Given the description of an element on the screen output the (x, y) to click on. 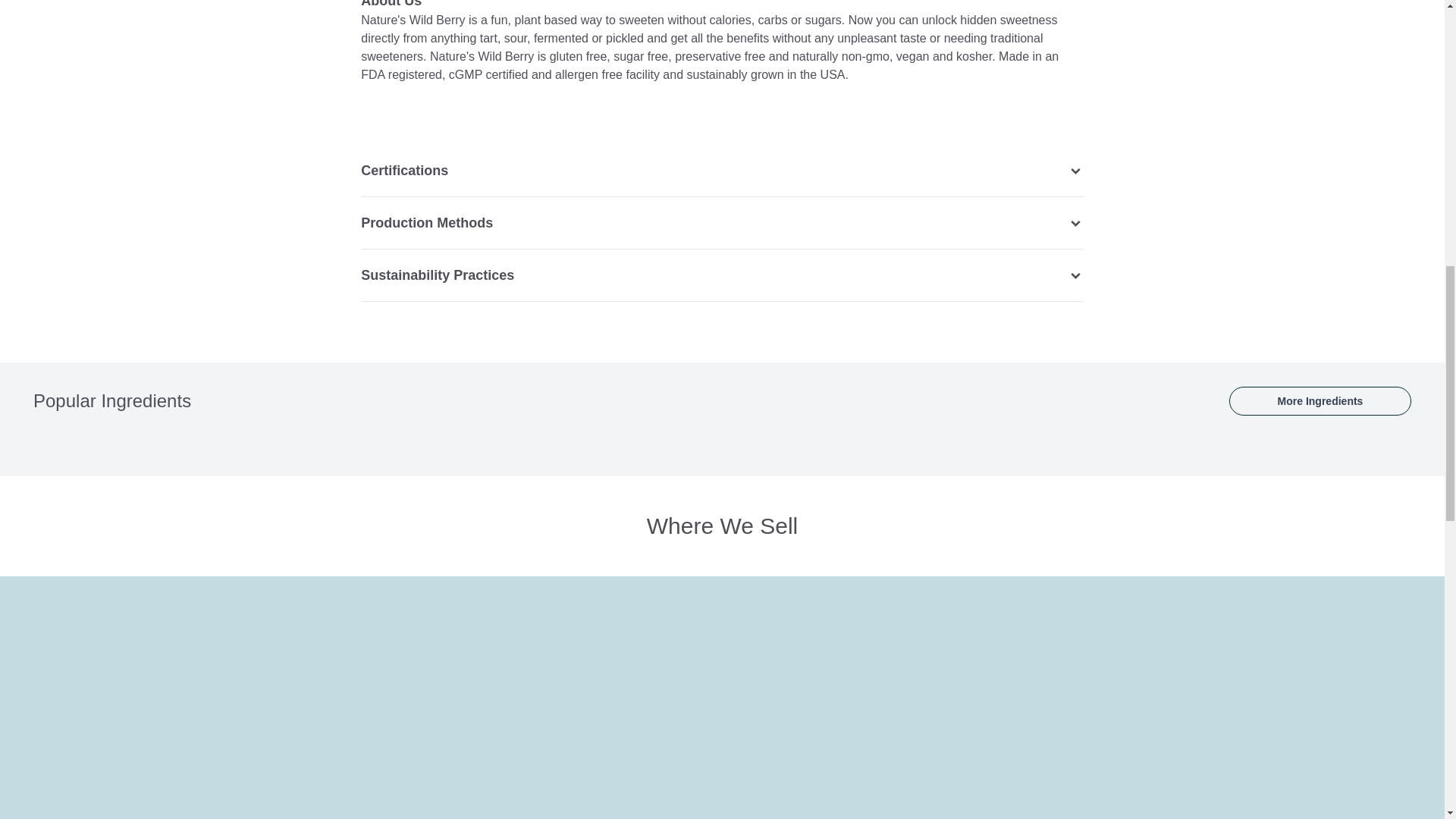
More Ingredients (1319, 400)
